Given the description of an element on the screen output the (x, y) to click on. 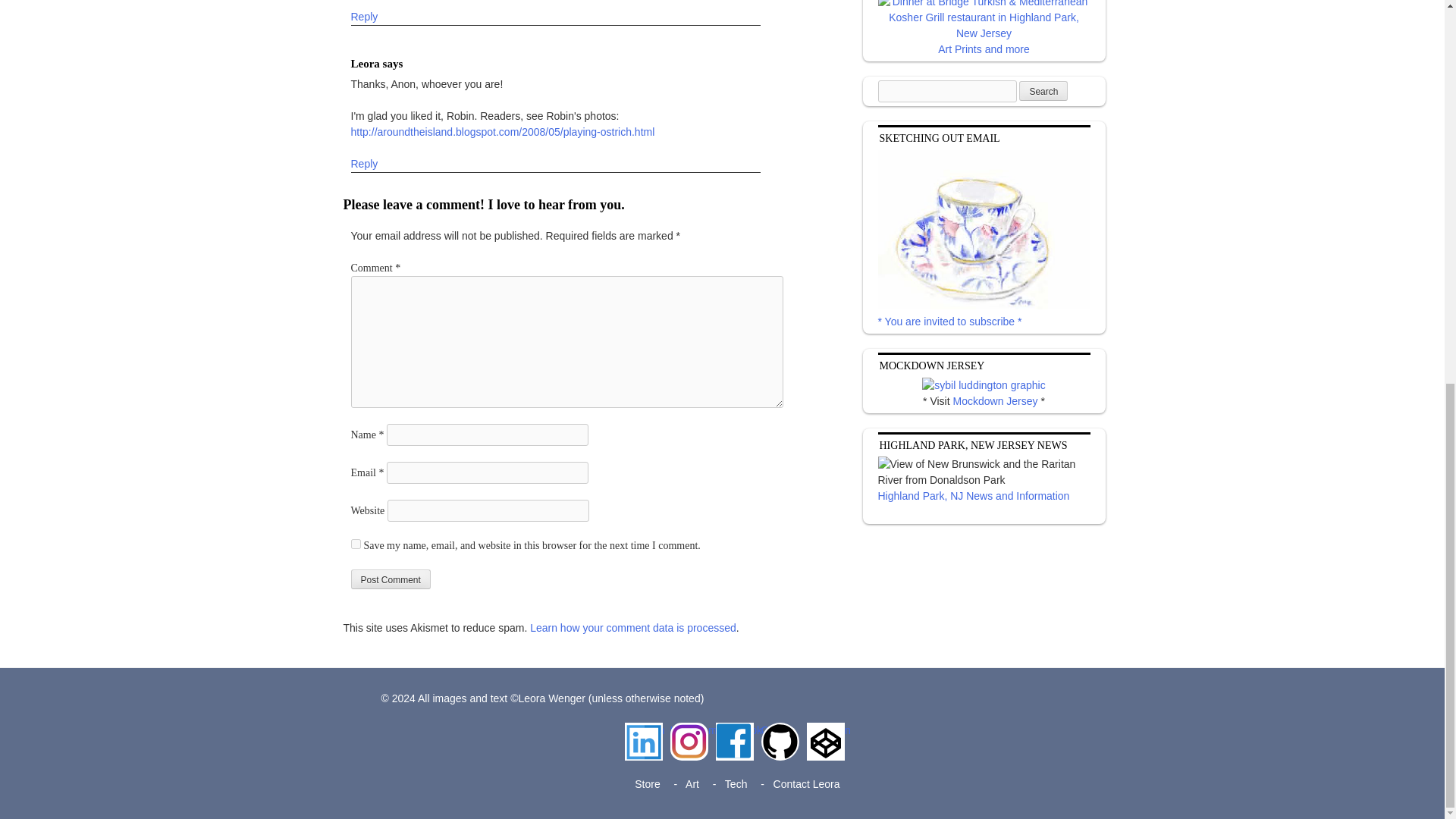
Reply (363, 16)
Post Comment (389, 578)
yes (354, 543)
Reply (363, 164)
Search (1043, 90)
Learn how your comment data is processed (632, 627)
Post Comment (389, 578)
